Given the description of an element on the screen output the (x, y) to click on. 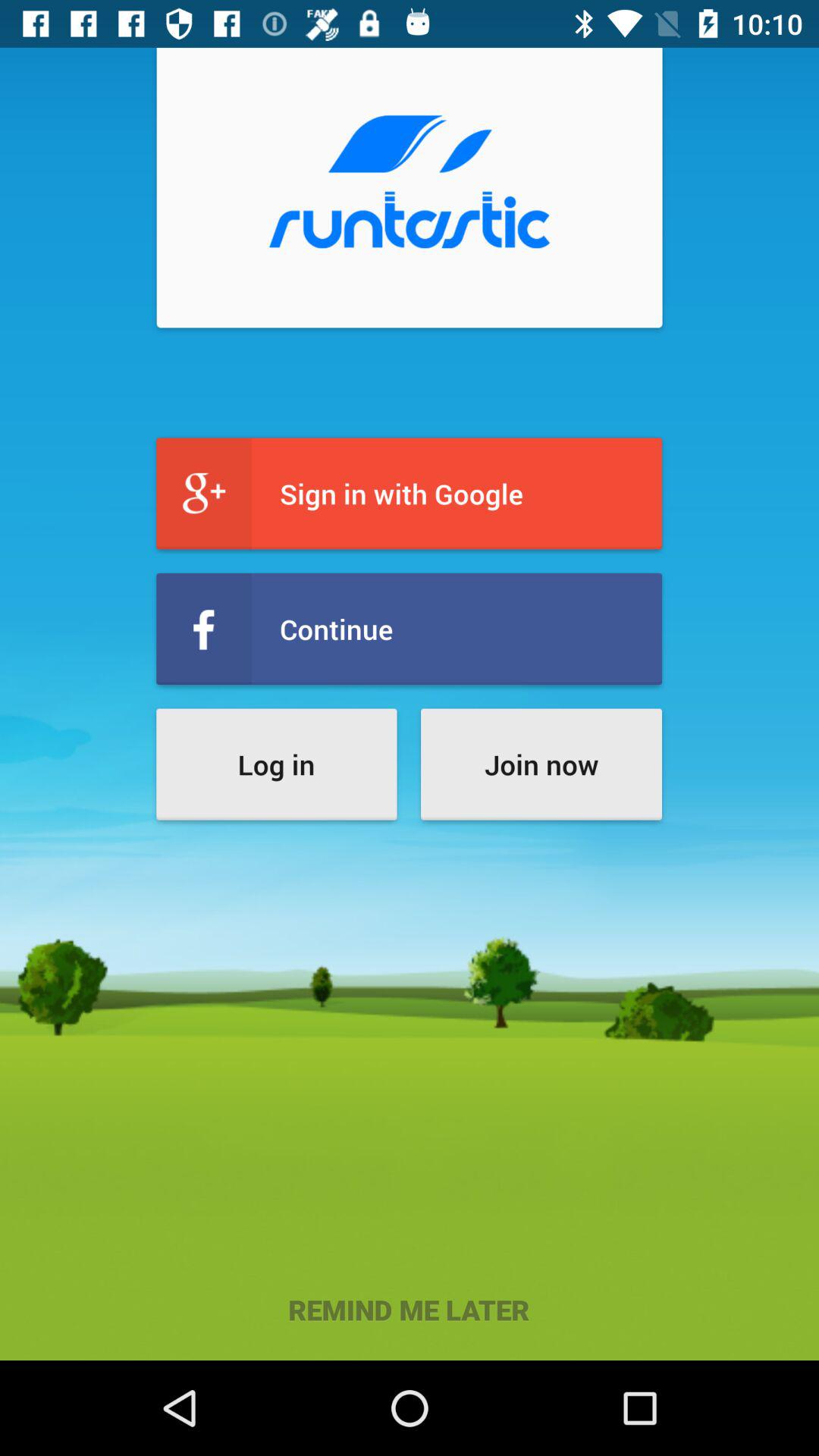
press the icon to the right of log in icon (541, 764)
